Given the description of an element on the screen output the (x, y) to click on. 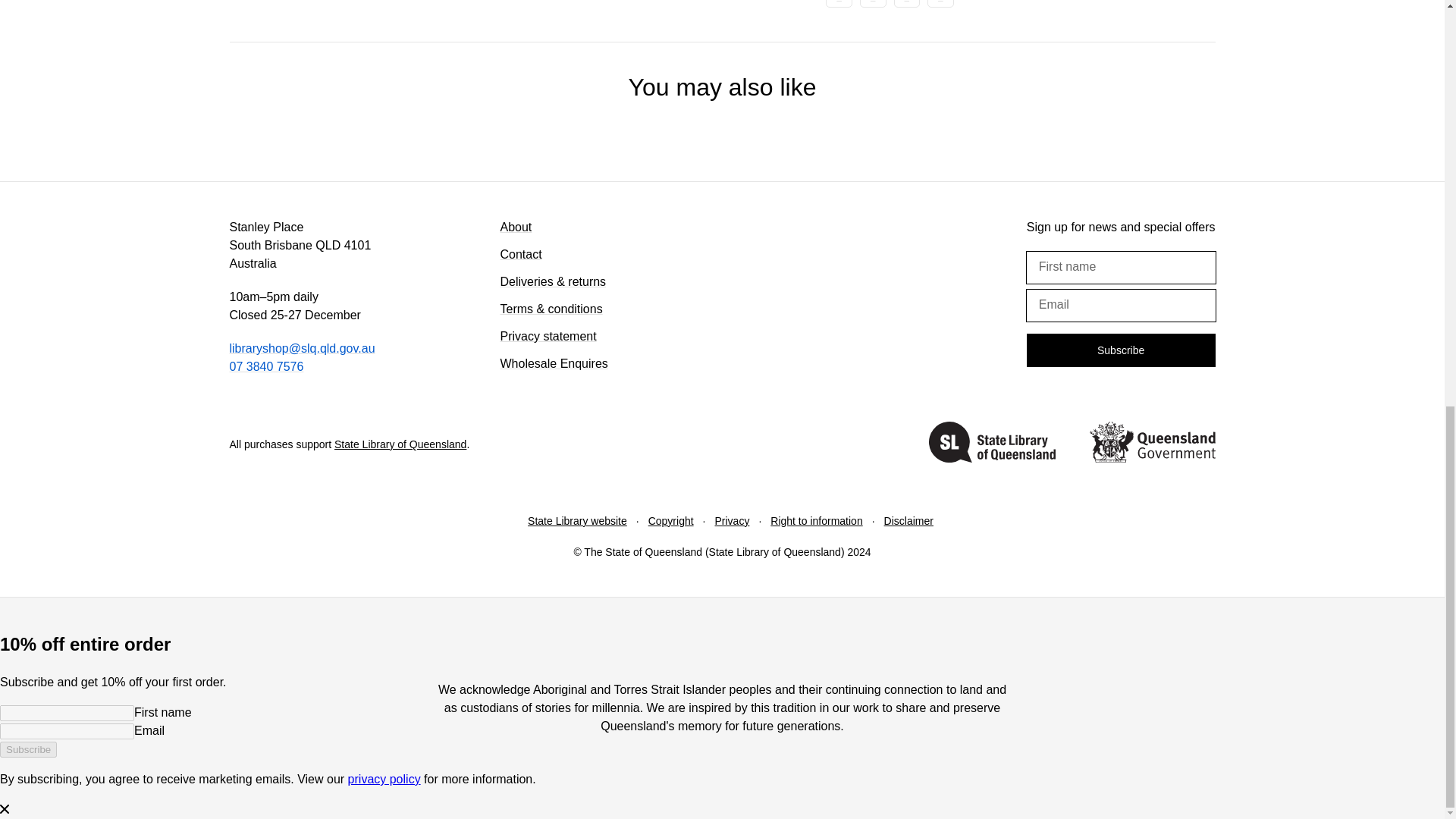
tel:07 3840 7576 (265, 366)
Go to Queensland State Library homepage (992, 444)
Go to Queensland Government homepage (1151, 444)
